Given the description of an element on the screen output the (x, y) to click on. 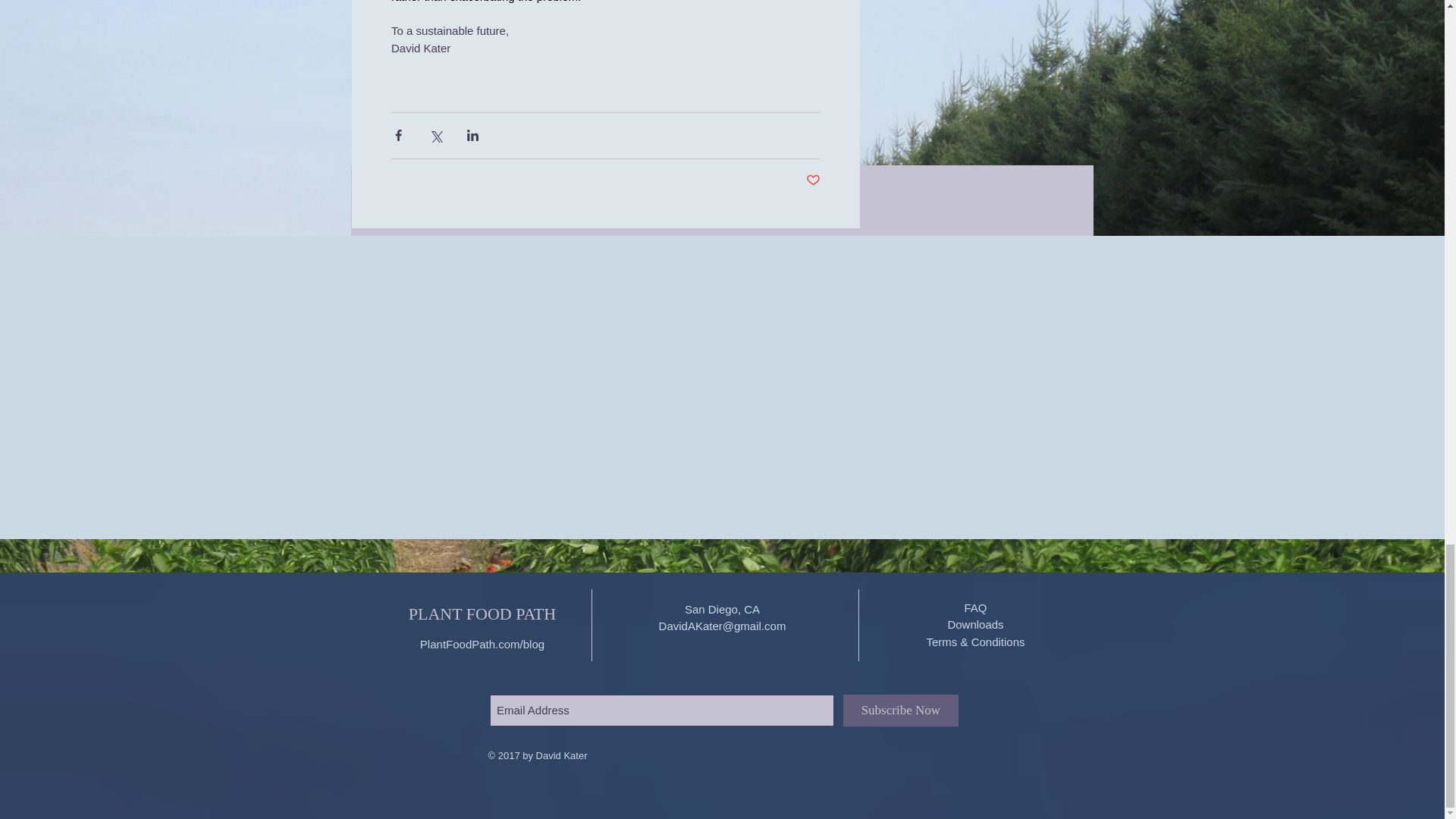
Post not marked as liked (812, 180)
Wix Get Subscribers (724, 692)
